Given the description of an element on the screen output the (x, y) to click on. 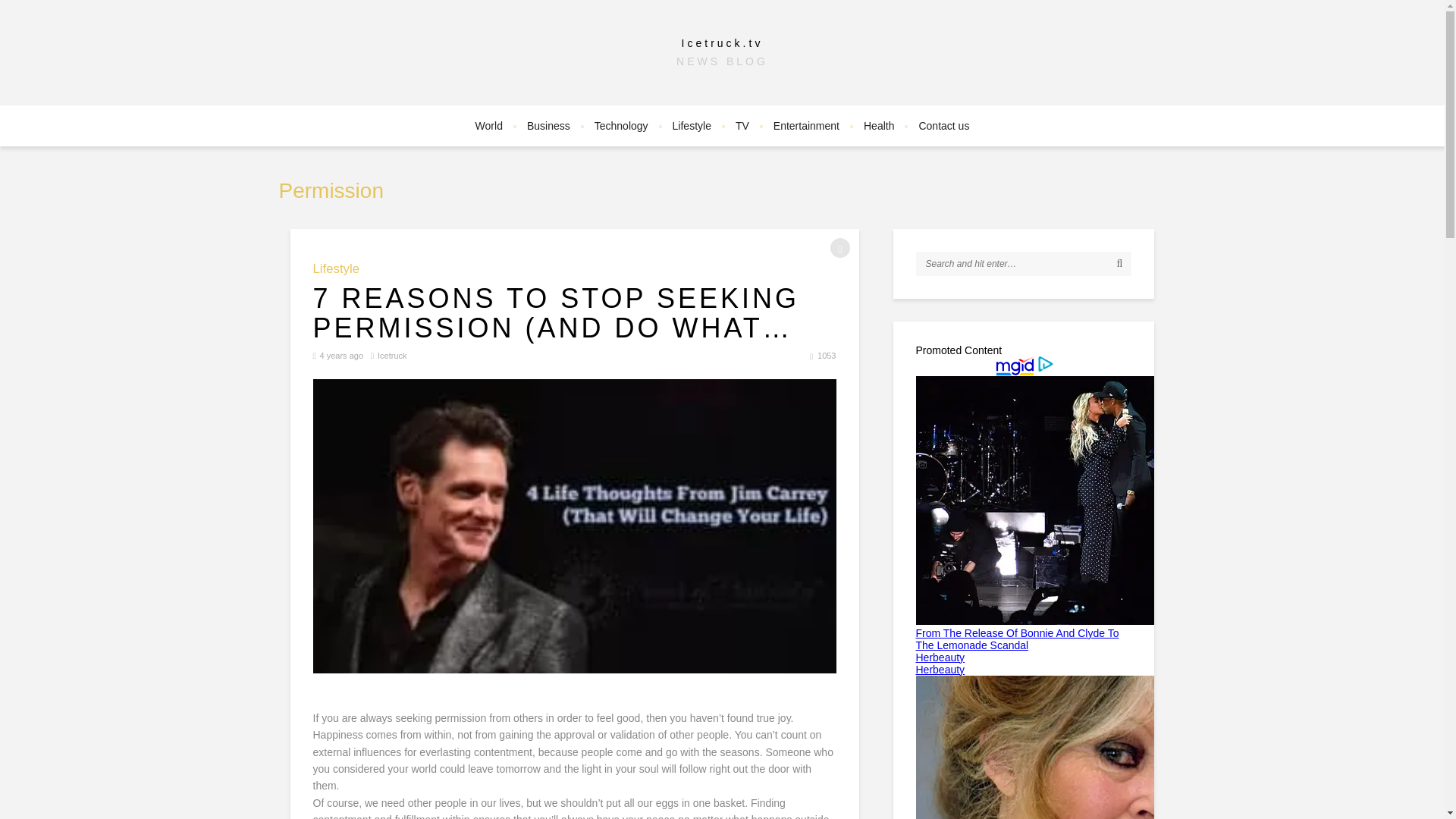
World (488, 125)
Health (878, 125)
Lifestyle (336, 269)
TV (742, 125)
Technology (621, 125)
Lifestyle (336, 269)
1053 (825, 355)
Icetruck (392, 355)
Icetruck.tv (721, 42)
Entertainment (806, 125)
Business (548, 125)
Lifestyle (692, 125)
Search for: (1023, 263)
Contact us (943, 125)
